Given the description of an element on the screen output the (x, y) to click on. 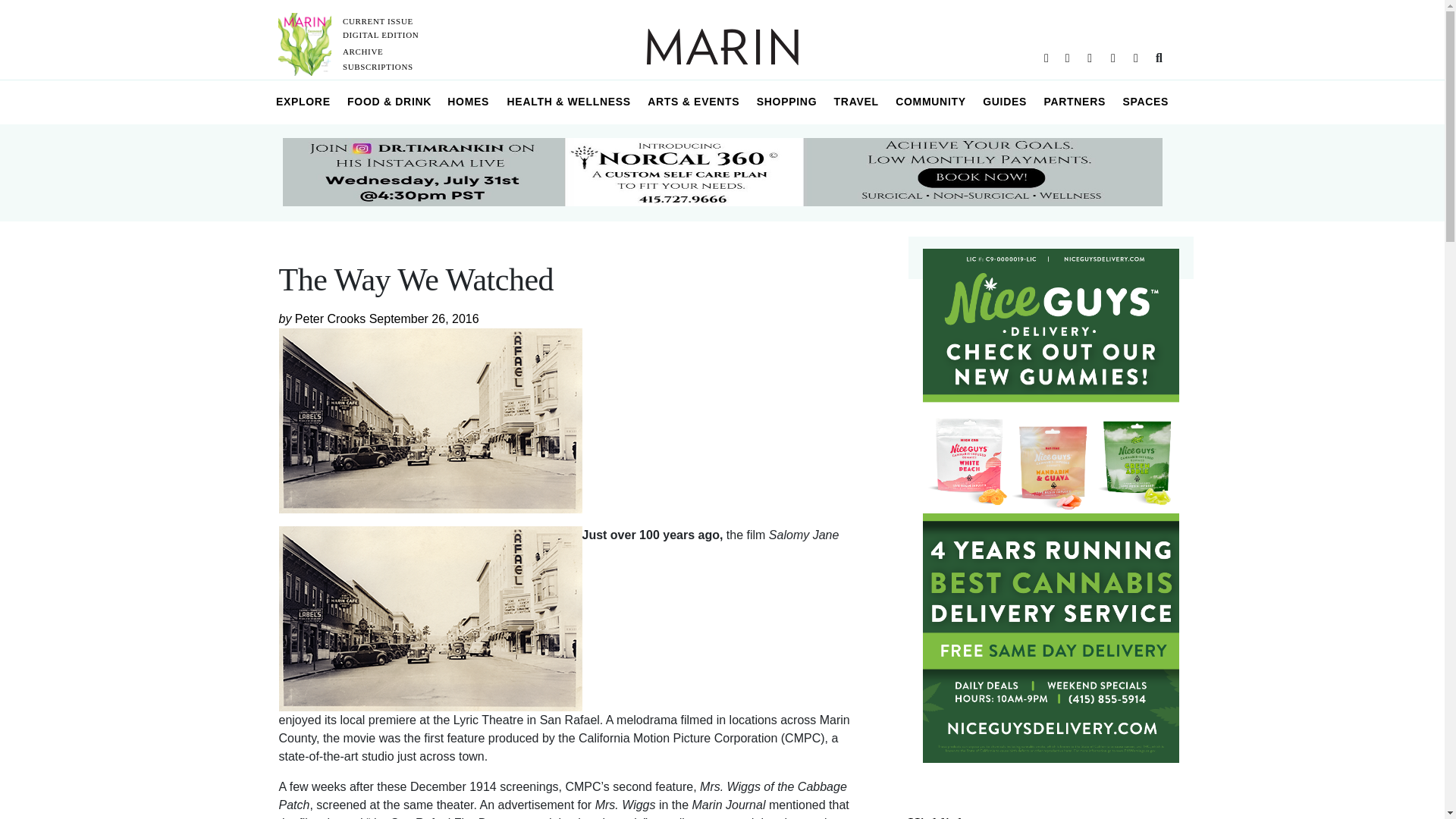
EXPLORE (303, 102)
SUBSCRIPTIONS (377, 66)
DIGITAL EDITION (380, 34)
ARCHIVE (362, 51)
CURRENT ISSUE (377, 20)
HOMES (468, 102)
